Given the description of an element on the screen output the (x, y) to click on. 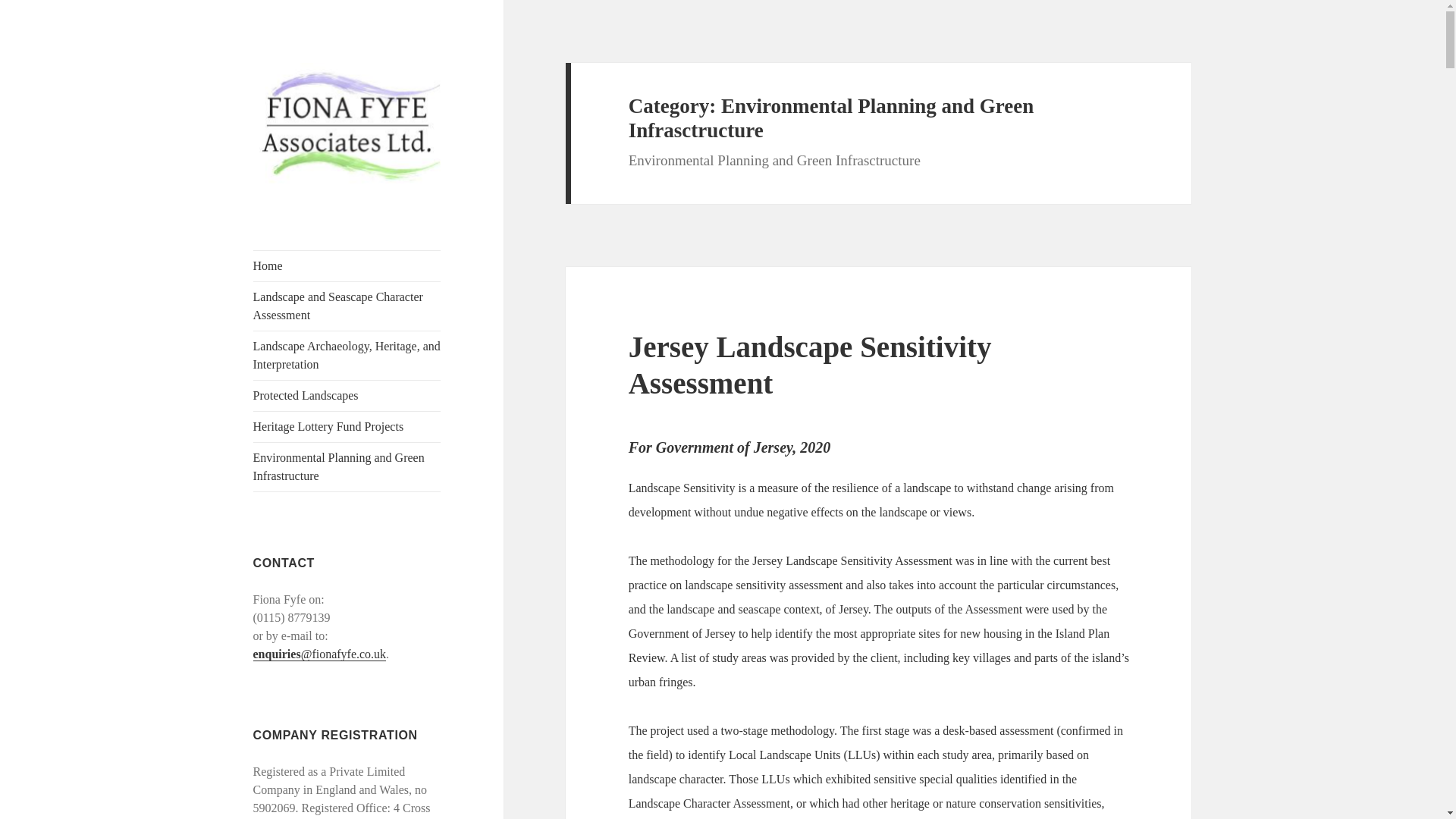
Heritage Lottery Fund Projects (347, 426)
Protected Landscapes (347, 395)
Fiona Fyfe Associates (307, 223)
Home (347, 265)
Environmental Planning and Green Infrastructure (347, 467)
Landscape and Seascape Character Assessment (347, 305)
Landscape Archaeology, Heritage, and Interpretation (347, 355)
For Government of Jersey, 2020 (728, 446)
Jersey Landscape Sensitivity Assessment (809, 364)
